Given the description of an element on the screen output the (x, y) to click on. 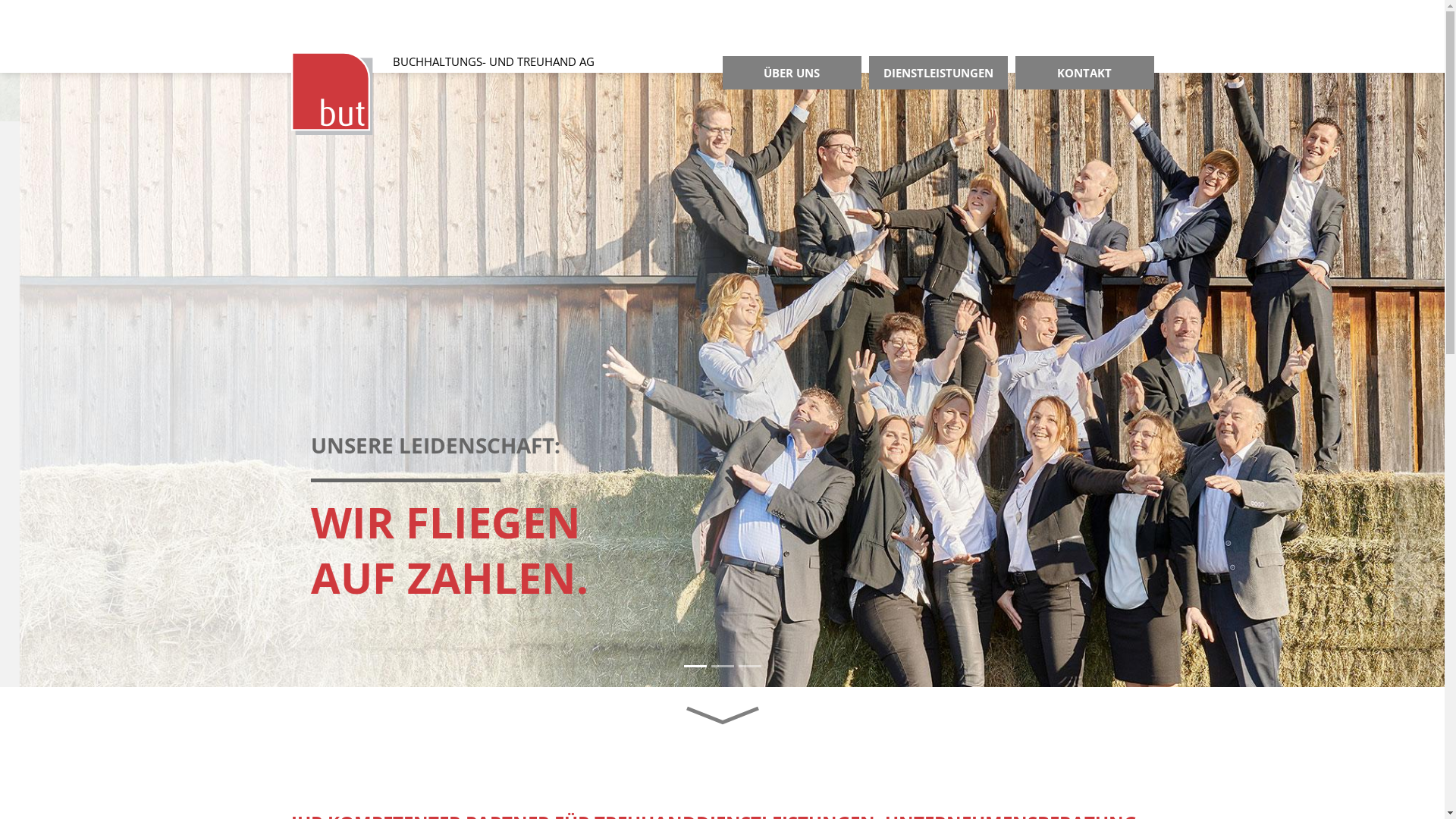
DIENSTLEISTUNGEN Element type: text (938, 72)
Direkt zum Inhalt Element type: text (0, 0)
BUCHHALTUNGS- UND TREUHAND AG Element type: text (500, 92)
KONTAKT Element type: text (1083, 72)
